Given the description of an element on the screen output the (x, y) to click on. 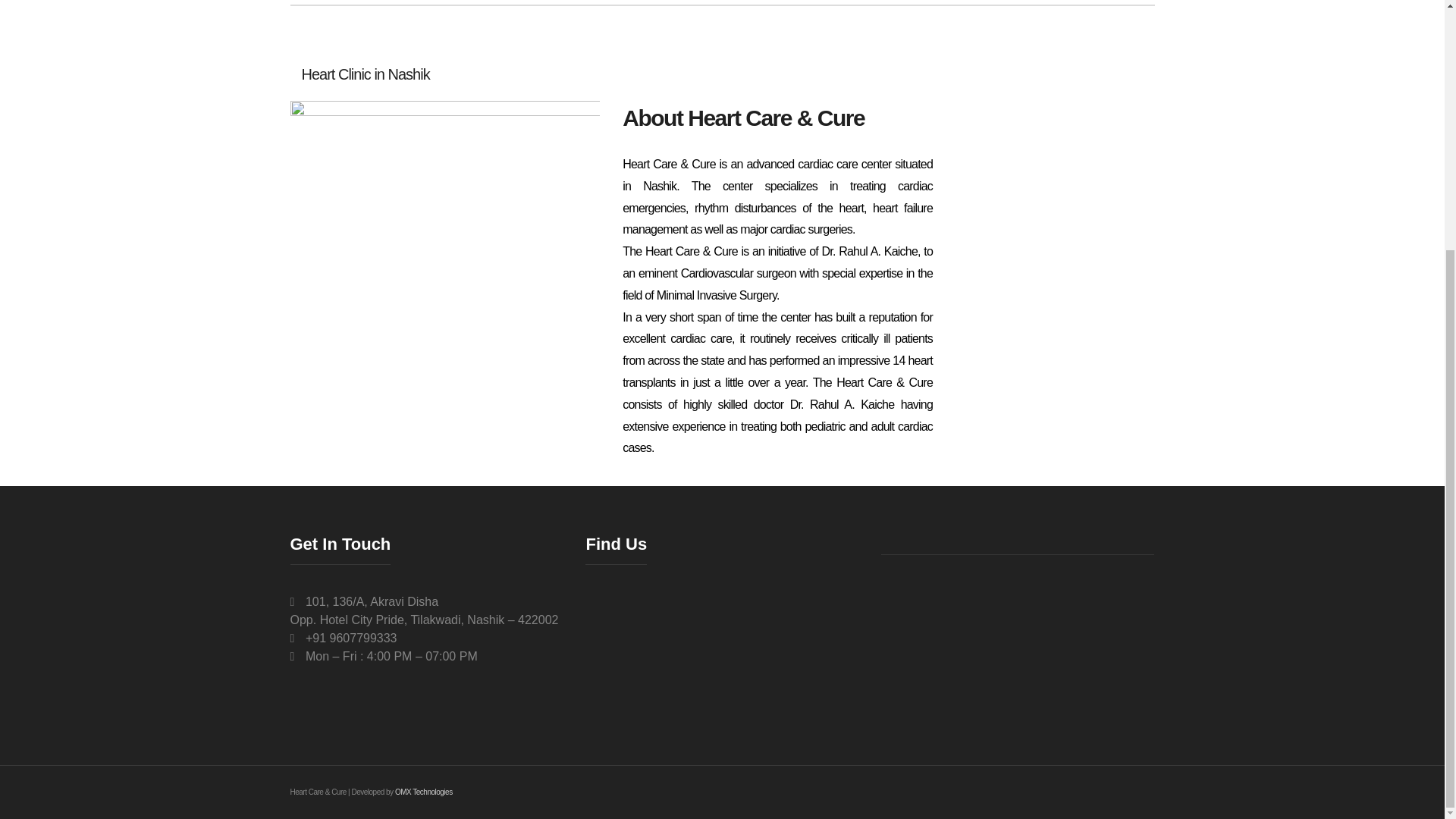
OMX Technologies (423, 791)
